Given the description of an element on the screen output the (x, y) to click on. 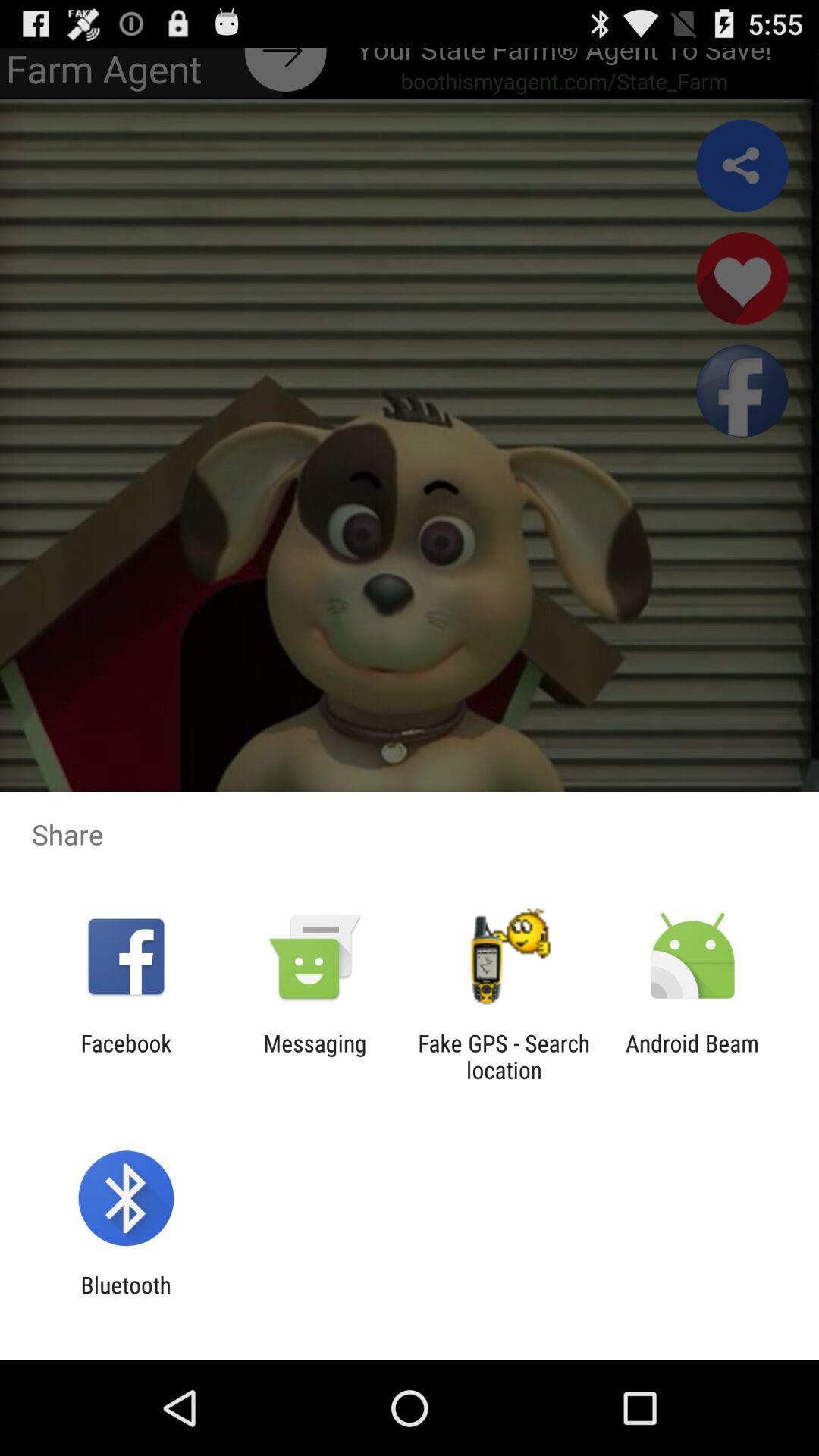
click item to the right of fake gps search (692, 1056)
